Given the description of an element on the screen output the (x, y) to click on. 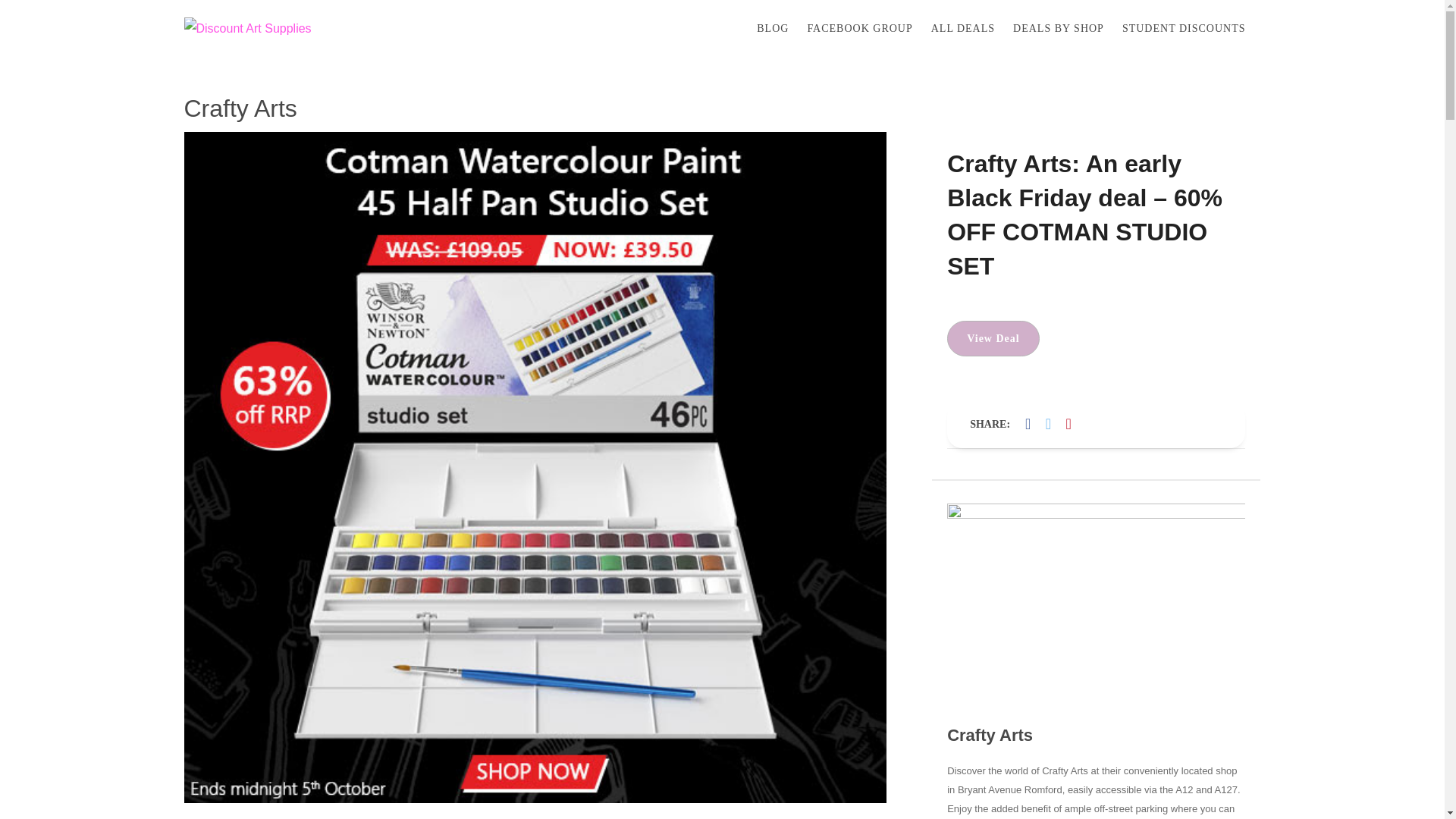
Crafty Arts (989, 734)
View Deal (993, 338)
DEALS BY SHOP (1058, 28)
ALL DEALS (962, 28)
WATERCOLOUR PAINTS (308, 44)
FACEBOOK GROUP (859, 28)
HOME (201, 44)
